Given the description of an element on the screen output the (x, y) to click on. 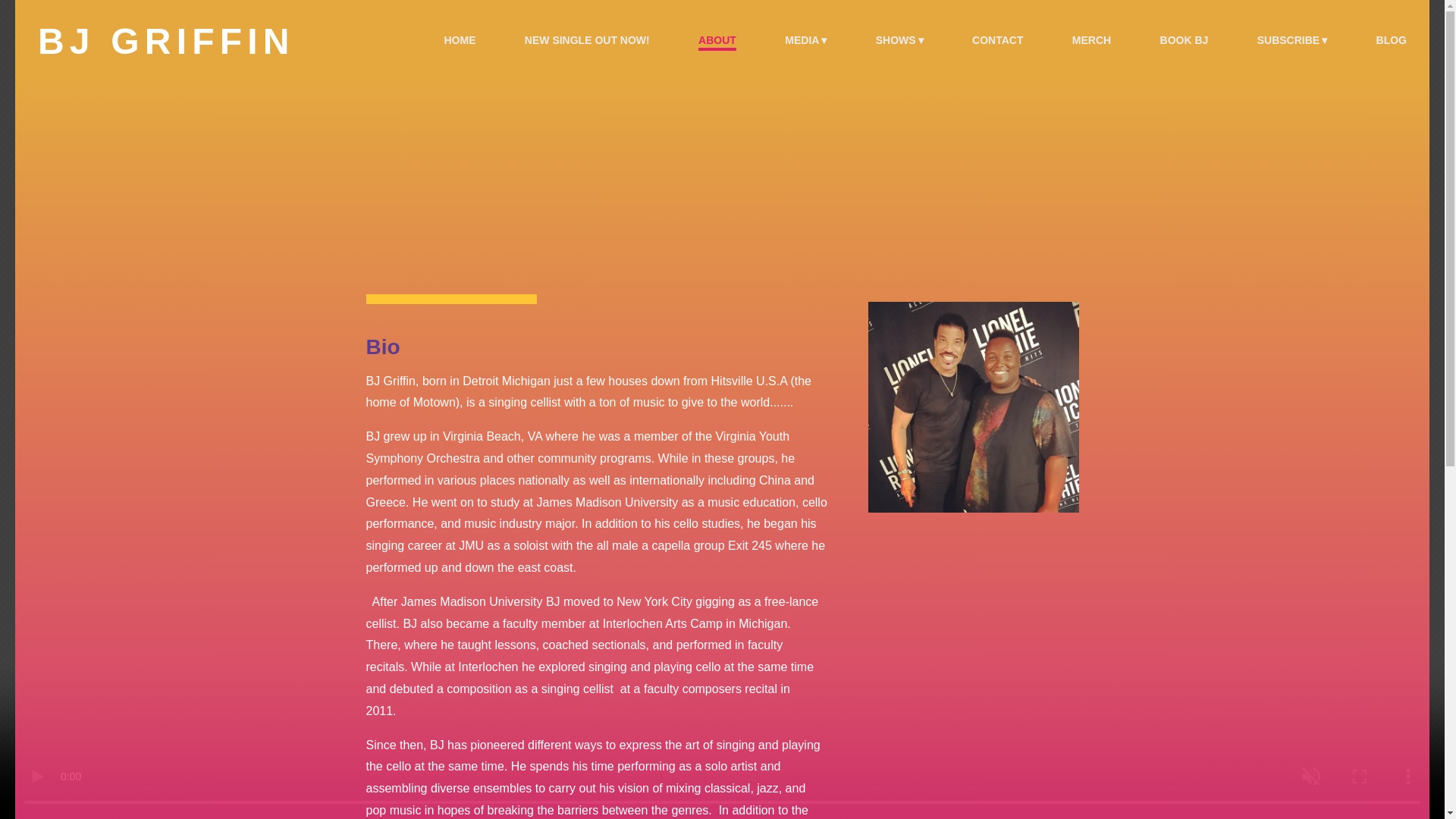
BOOK BJ (1184, 41)
BLOG (1390, 41)
SHOWS (899, 41)
SUBSCRIBE (1291, 41)
BJ GRIFFIN (166, 42)
MEDIA (805, 41)
MERCH (1090, 41)
CONTACT (997, 41)
HOME (460, 41)
NEW SINGLE OUT NOW! (586, 41)
ABOUT (717, 41)
